Given the description of an element on the screen output the (x, y) to click on. 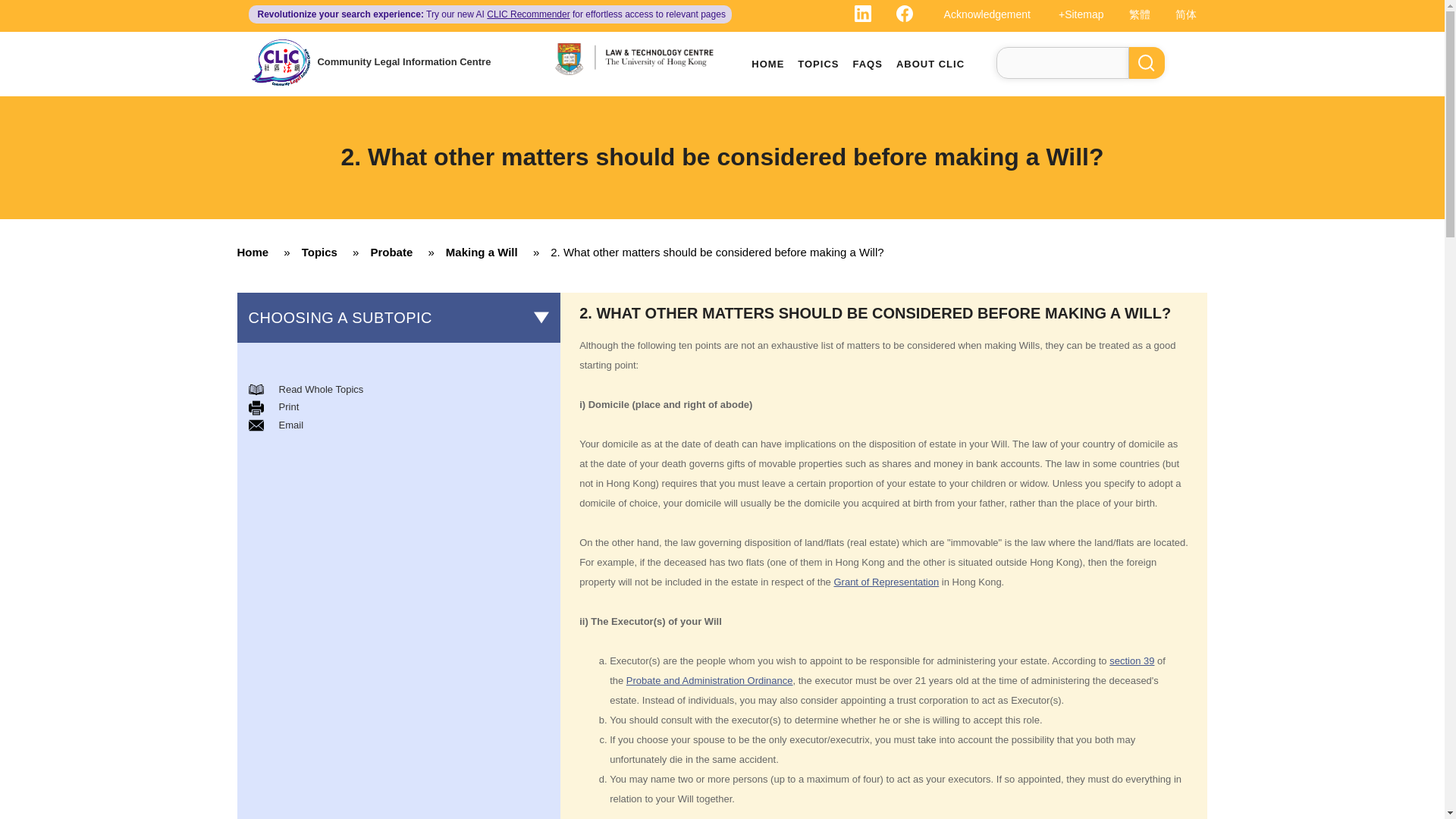
ABOUT CLIC (930, 63)
Topics (325, 251)
Making a Will (487, 251)
Home (257, 251)
Community Legal Information Centre (403, 61)
Enter the terms you wish to search for. (1062, 62)
Search (1146, 62)
Grant of Representation (885, 582)
Search (1146, 62)
section 39 (1131, 660)
Acknowledgement (974, 14)
Search (1146, 62)
